Given the description of an element on the screen output the (x, y) to click on. 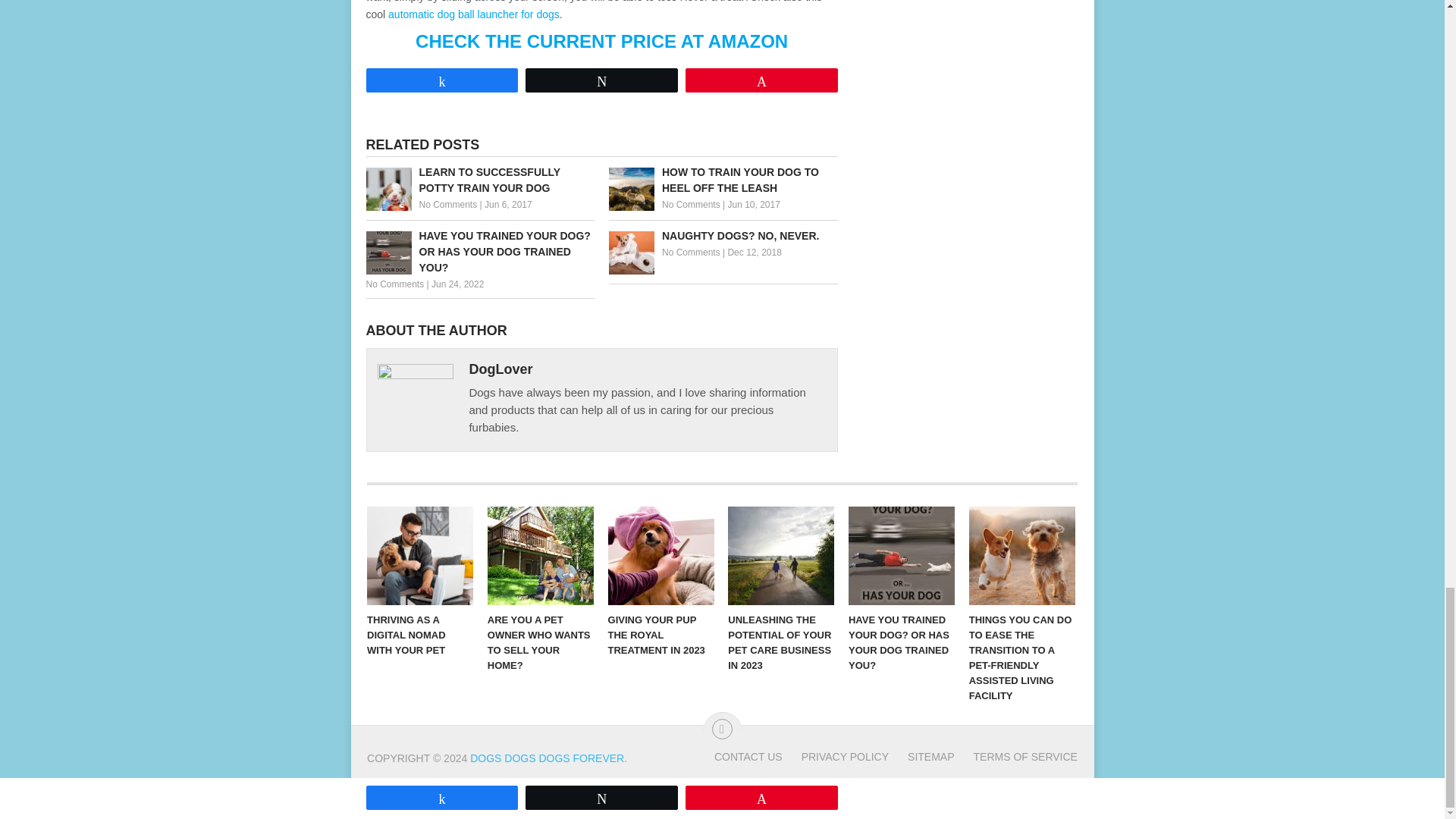
No Comments (448, 204)
HAVE YOU TRAINED YOUR DOG? OR HAS YOUR DOG TRAINED YOU? (479, 252)
How To Train Your Dog To Heel Off The Leash (723, 180)
Naughty Dogs? No, Never. (723, 236)
CHECK THE CURRENT PRICE AT AMAZON (600, 41)
LEARN TO SUCCESSFULLY POTTY TRAIN YOUR DOG (479, 180)
No Comments (691, 252)
No Comments (394, 284)
automatic dog ball launcher for dogs (473, 14)
Learn to Successfully Potty Train Your Dog (479, 180)
Are You a Pet Owner Who Wants to Sell Your Home? (540, 555)
Giving Your Pup the Royal Treatment in 2023 (661, 555)
No Comments (691, 204)
Have You Trained Your Dog? Or Has Your Dog Trained You? (479, 252)
HOW TO TRAIN YOUR DOG TO HEEL OFF THE LEASH (723, 180)
